Given the description of an element on the screen output the (x, y) to click on. 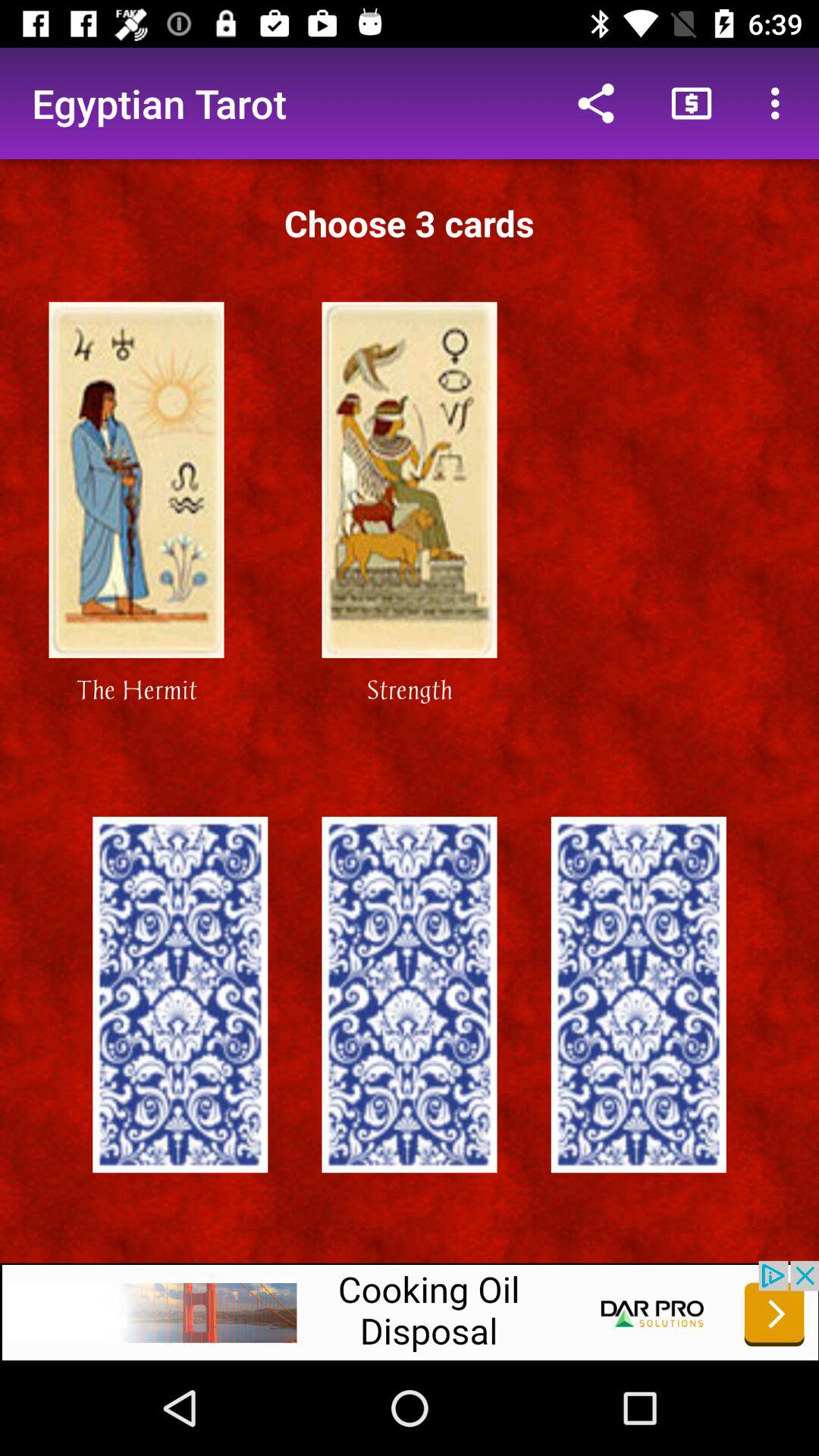
for add (409, 1310)
